Given the description of an element on the screen output the (x, y) to click on. 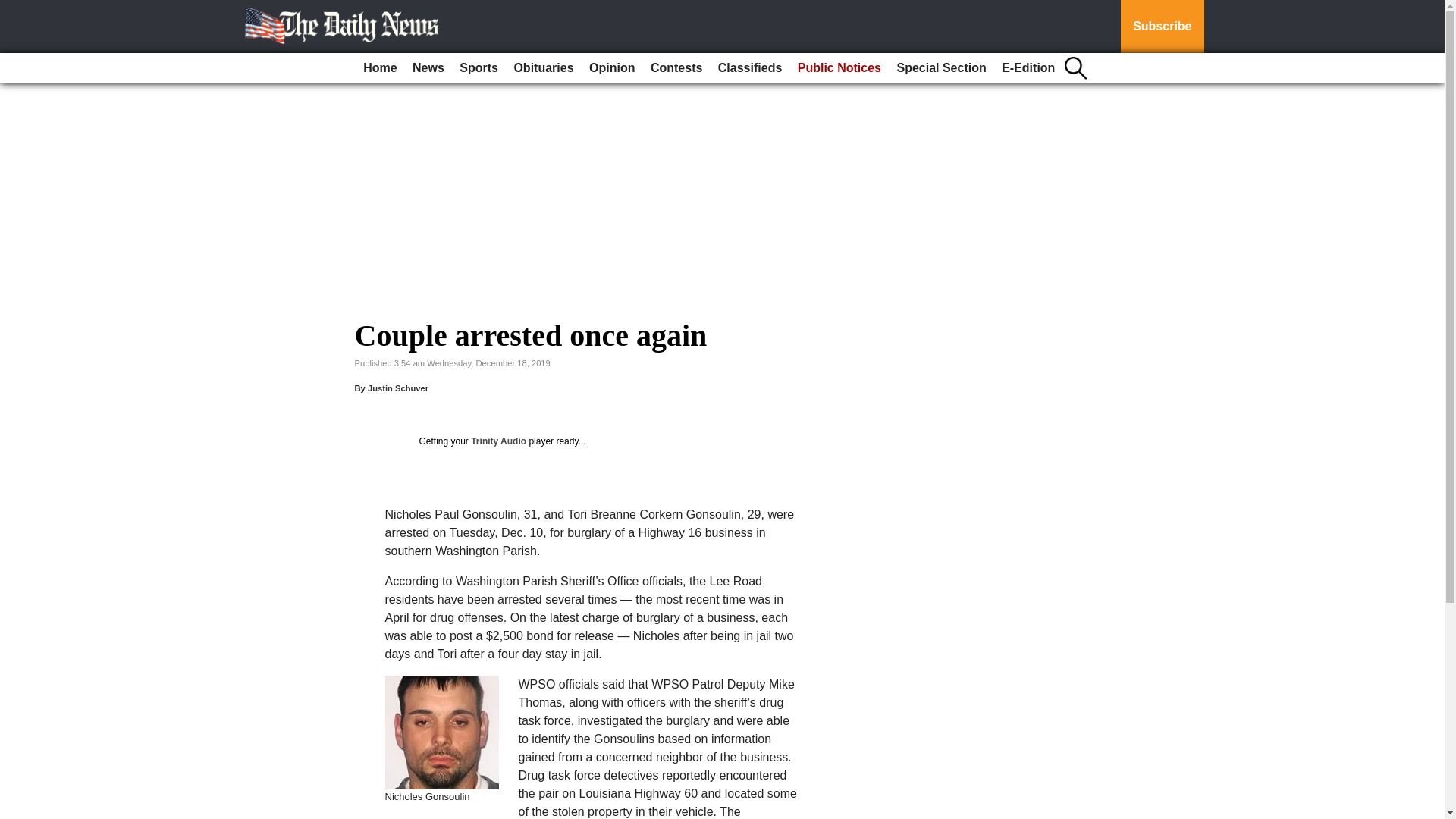
Trinity Audio (497, 440)
Opinion (611, 68)
Contests (676, 68)
Justin Schuver (398, 388)
News (427, 68)
Special Section (940, 68)
Subscribe (1162, 26)
Classifieds (749, 68)
Public Notices (839, 68)
E-Edition (1028, 68)
